Given the description of an element on the screen output the (x, y) to click on. 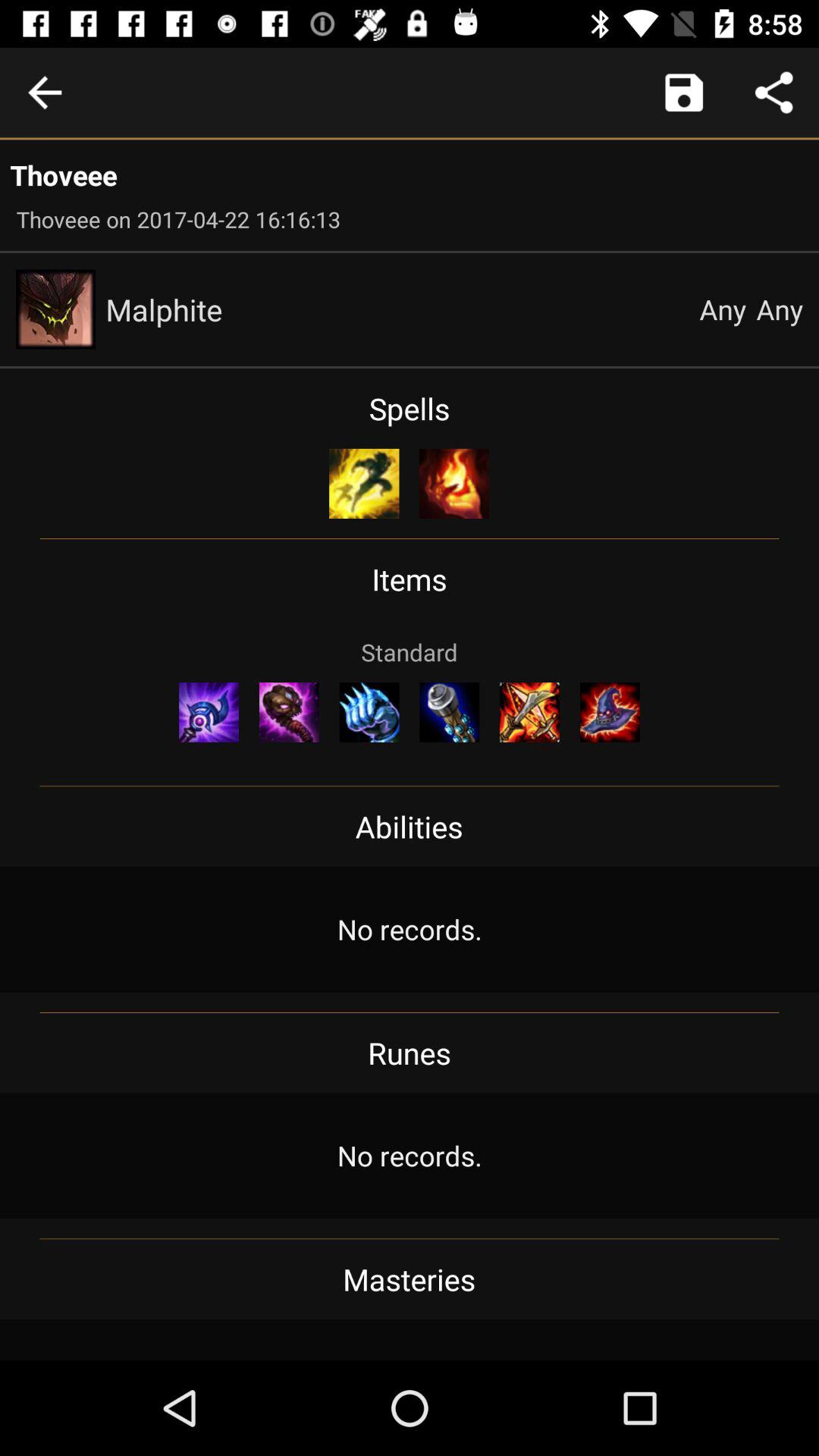
go back (44, 92)
